Given the description of an element on the screen output the (x, y) to click on. 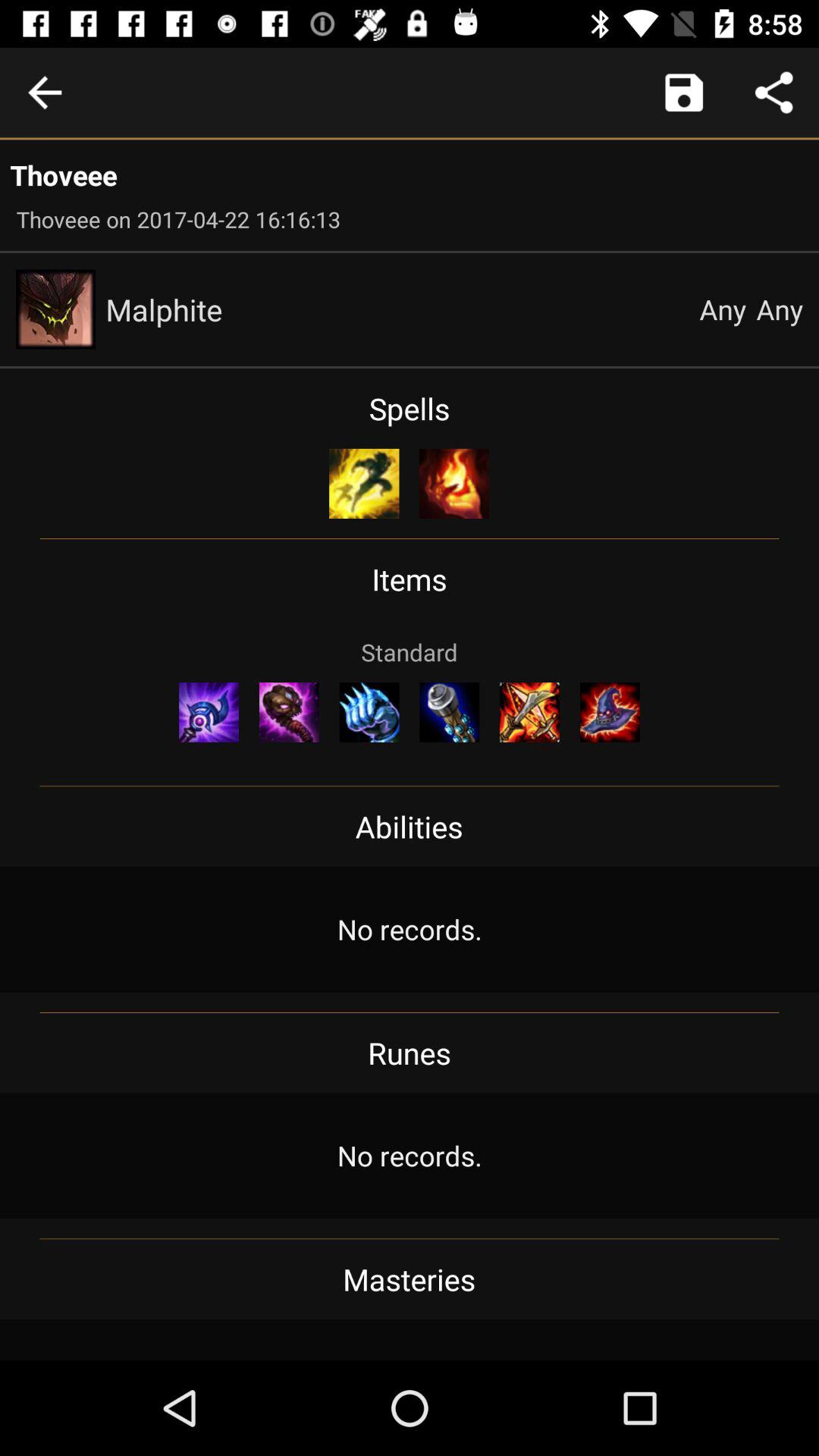
go back (44, 92)
